Given the description of an element on the screen output the (x, y) to click on. 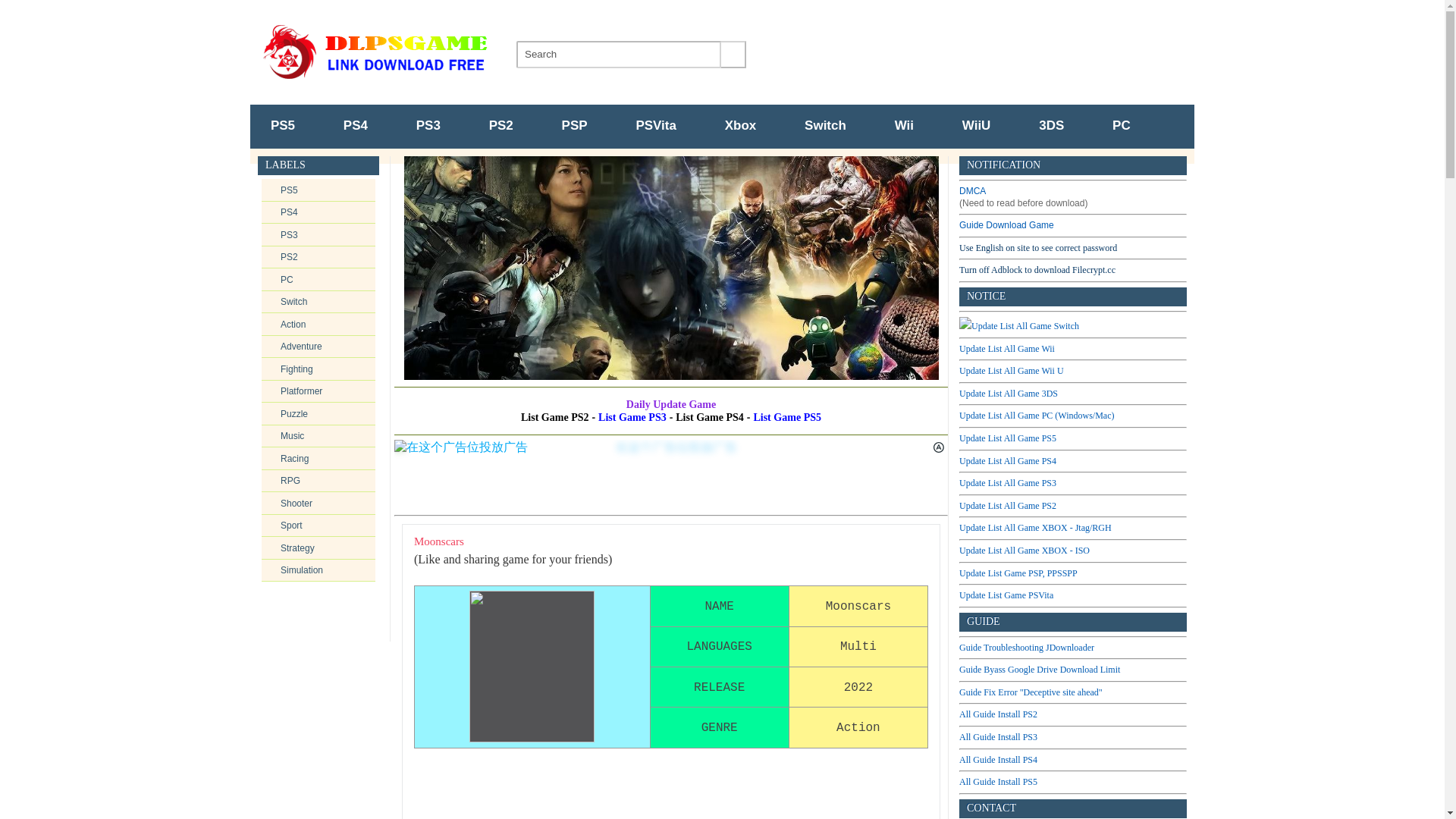
PS4  (355, 126)
Shooter (297, 502)
3DS (1050, 126)
Fighting (297, 368)
PS5 (289, 190)
List Game PS2 (555, 417)
PS3 (428, 126)
List Game PS5 (786, 417)
Wii (904, 126)
PS2  (501, 126)
PC (1121, 126)
SWITCH (825, 126)
Strategy (297, 547)
Simulation (302, 570)
PS2 (289, 256)
